Given the description of an element on the screen output the (x, y) to click on. 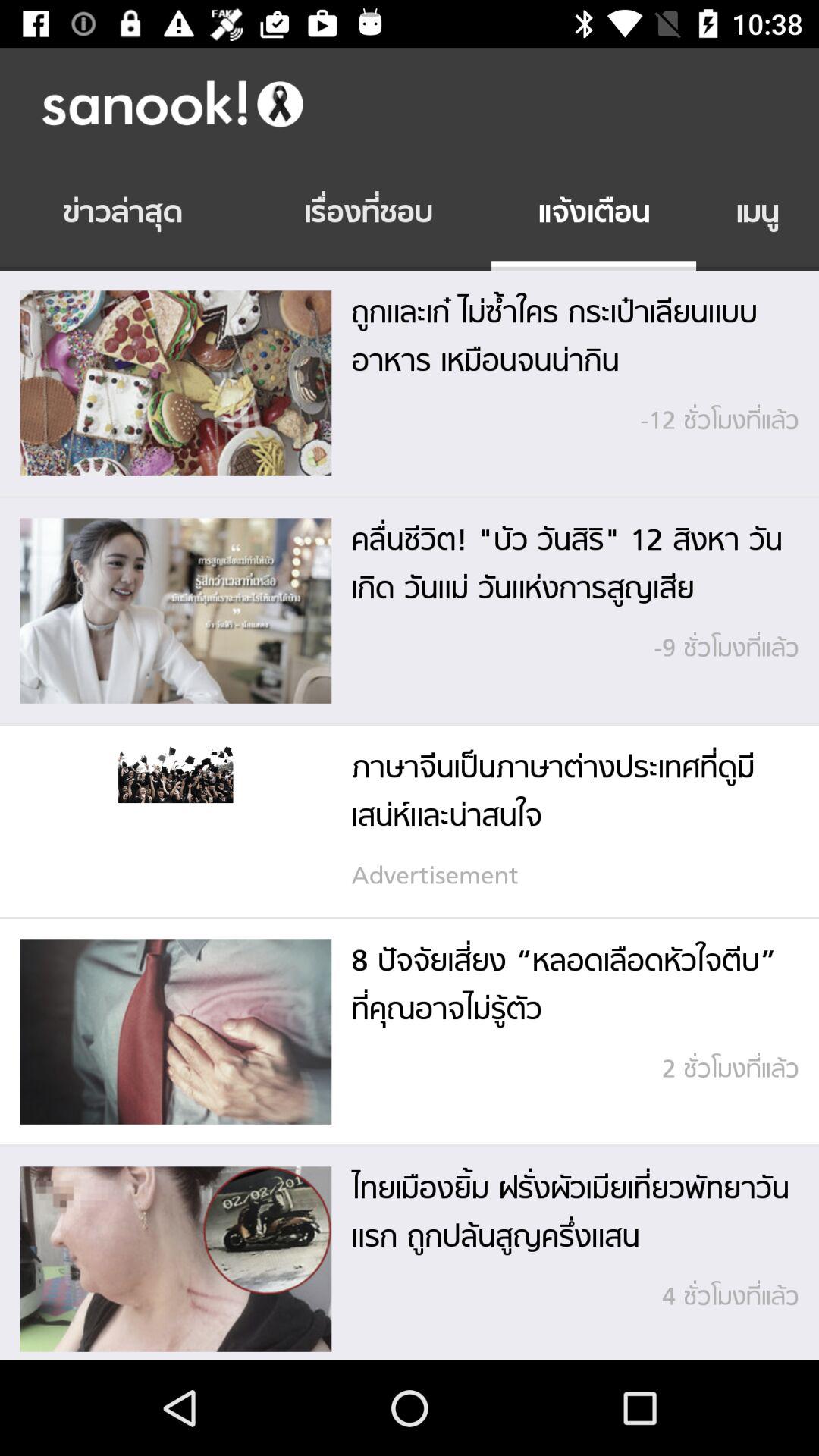
open the icon below the advertisement (409, 917)
